Given the description of an element on the screen output the (x, y) to click on. 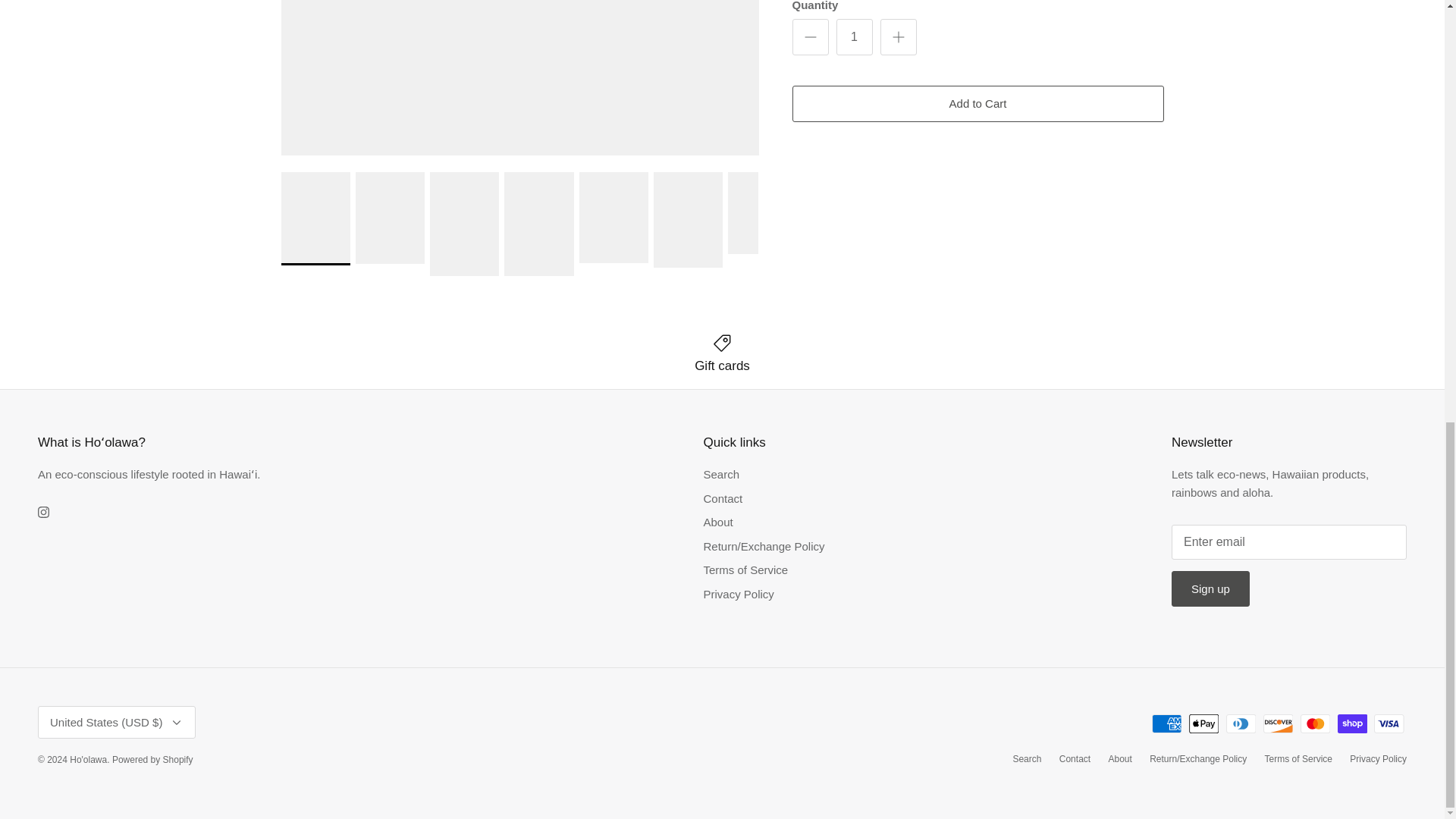
1 (853, 36)
Instagram (43, 511)
Shop Pay (1352, 723)
Down (176, 722)
Plus (897, 36)
Apple Pay (1203, 723)
Visa (1388, 723)
Minus (809, 36)
Mastercard (1315, 723)
Discover (1277, 723)
American Express (1166, 723)
Diners Club (1240, 723)
